Given the description of an element on the screen output the (x, y) to click on. 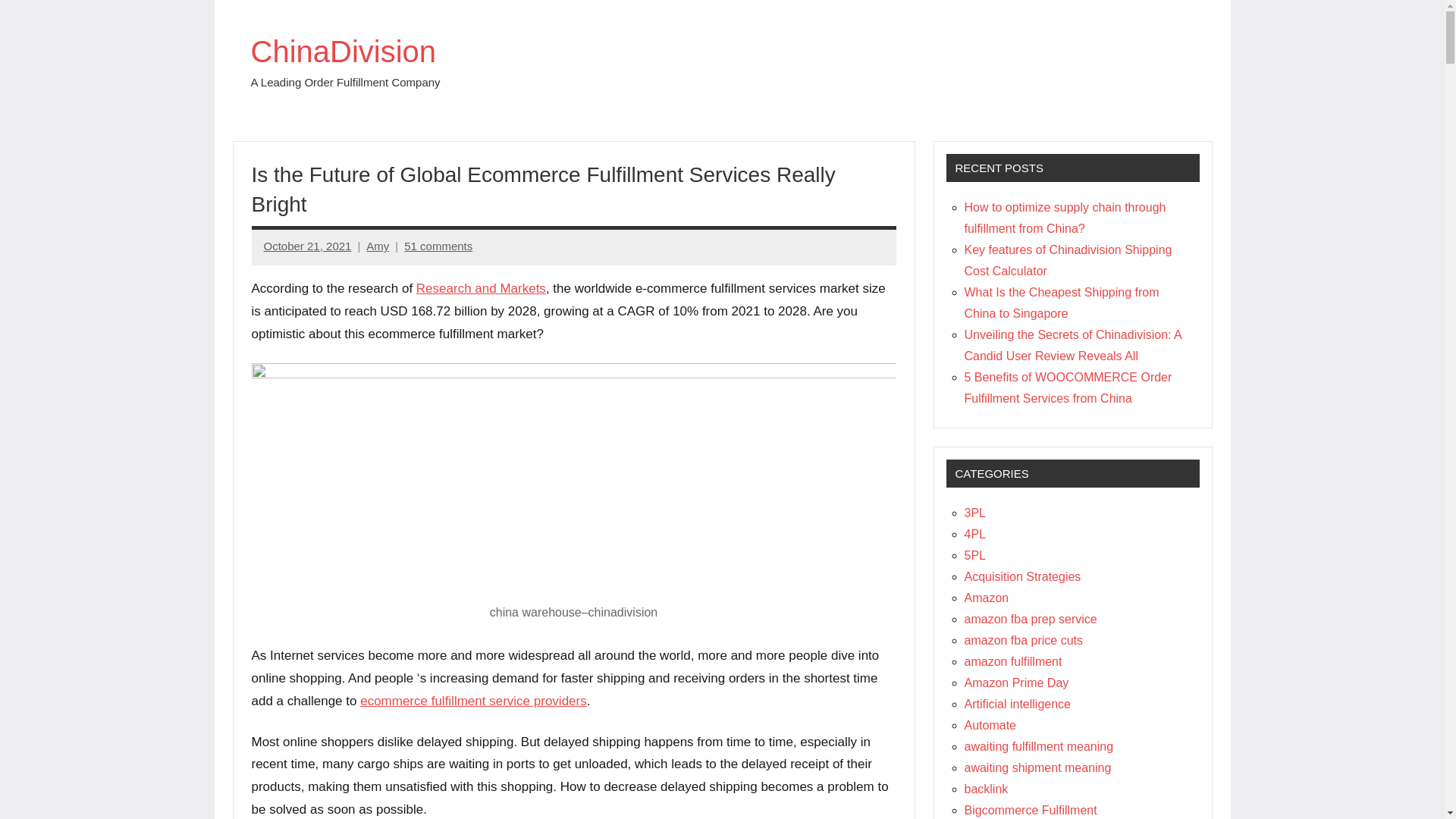
51 comments (437, 245)
View all posts by Amy (377, 245)
Amy (377, 245)
Research and Markets (481, 288)
ecommerce fulfillment service providers (472, 700)
October 21, 2021 (307, 245)
ChinaDivision (342, 51)
